Given the description of an element on the screen output the (x, y) to click on. 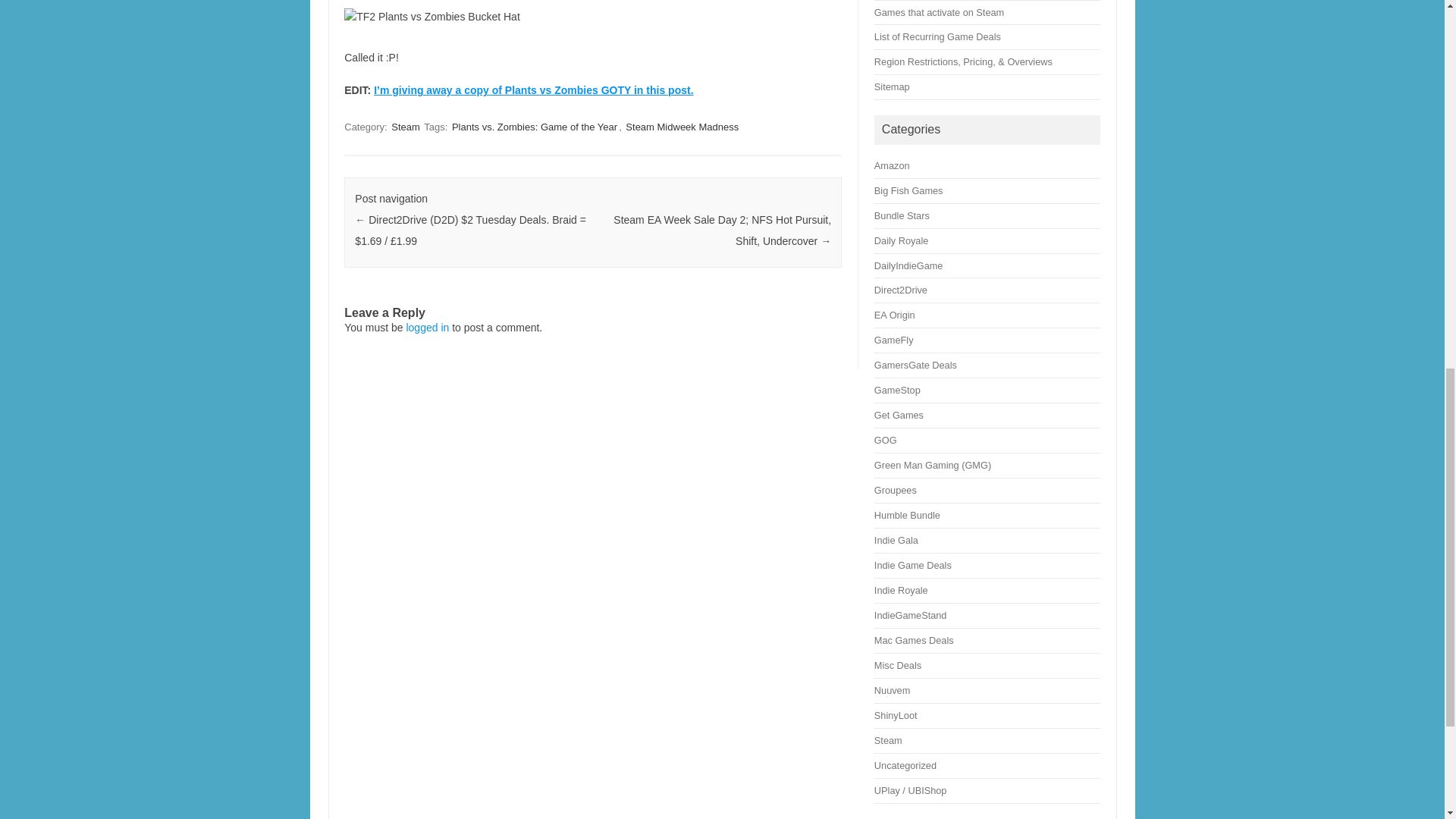
Steam (406, 126)
Games that activate on Steam (939, 12)
List of games that can be activated on Steam. (939, 12)
Steam Midweek Madness (681, 126)
logged in (427, 327)
TF2 Plants vs Zombies Bucket Hat (431, 17)
Plants vs. Zombies: Game of the Year (533, 126)
